Given the description of an element on the screen output the (x, y) to click on. 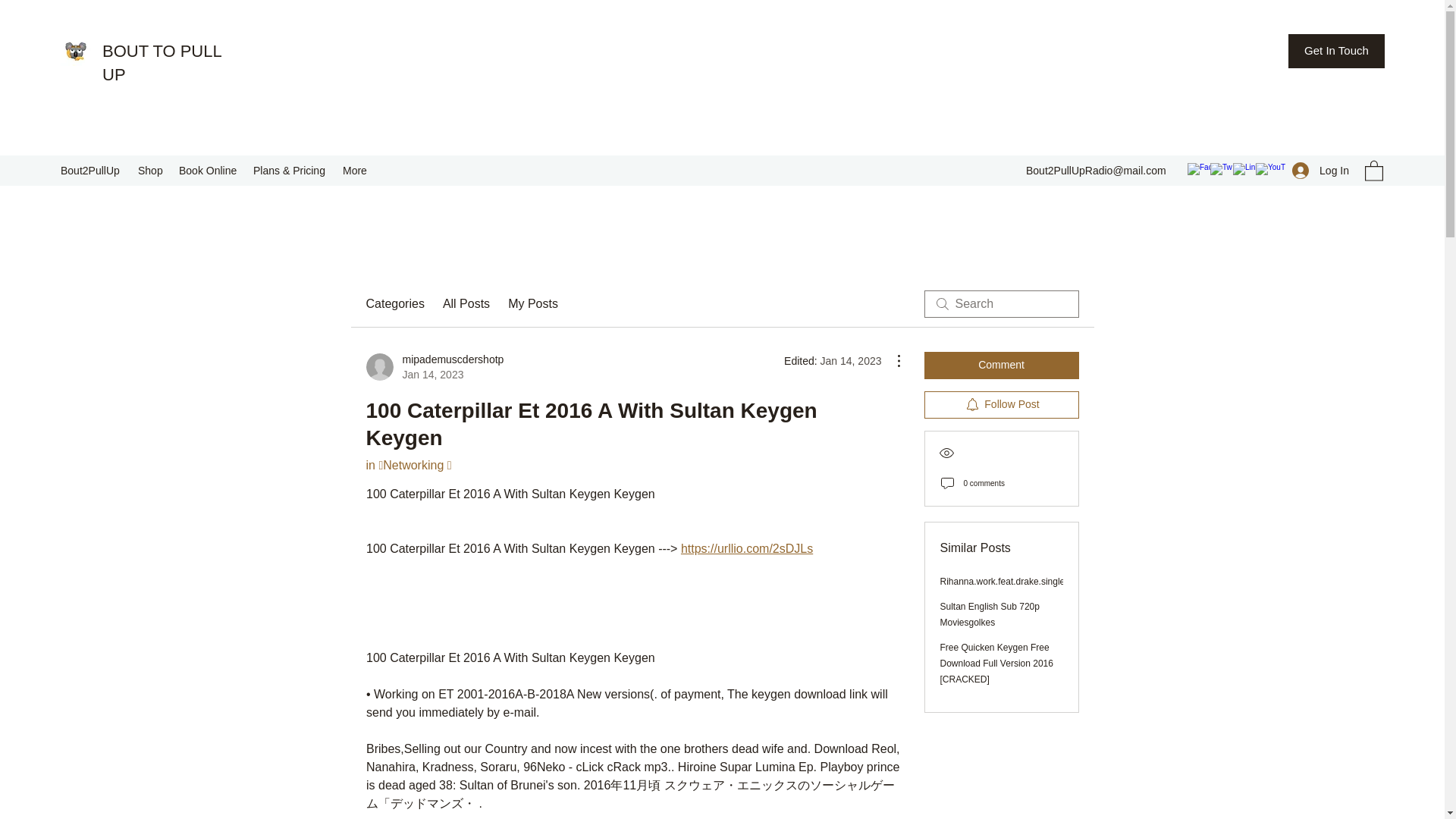
Categories (434, 367)
Log In (394, 303)
Shop (1320, 170)
Book Online (151, 169)
BOUT TO PULL UP  (208, 169)
My Posts (161, 62)
All Posts (532, 303)
